Given the description of an element on the screen output the (x, y) to click on. 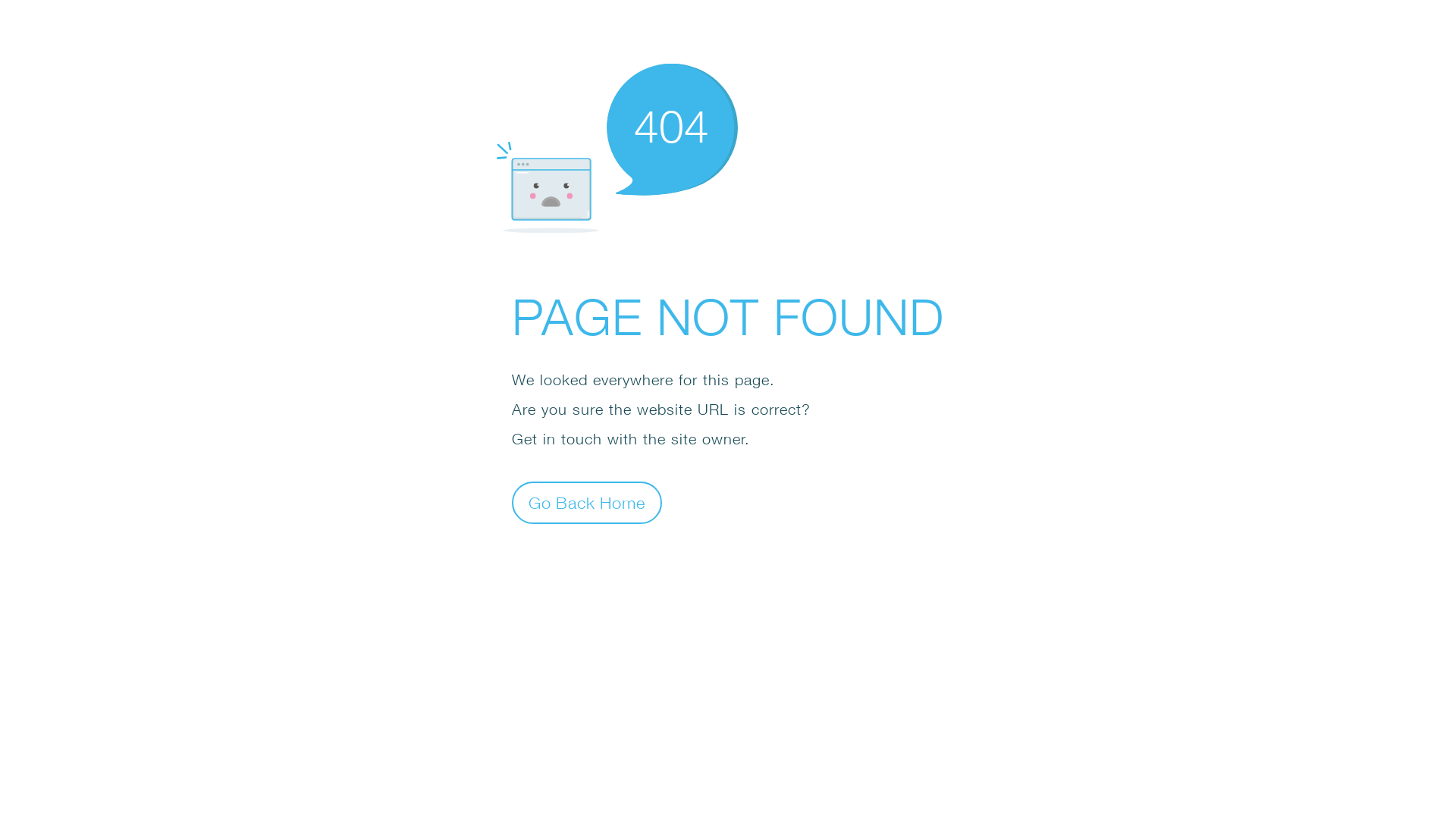
Go Back Home Element type: text (586, 502)
